Given the description of an element on the screen output the (x, y) to click on. 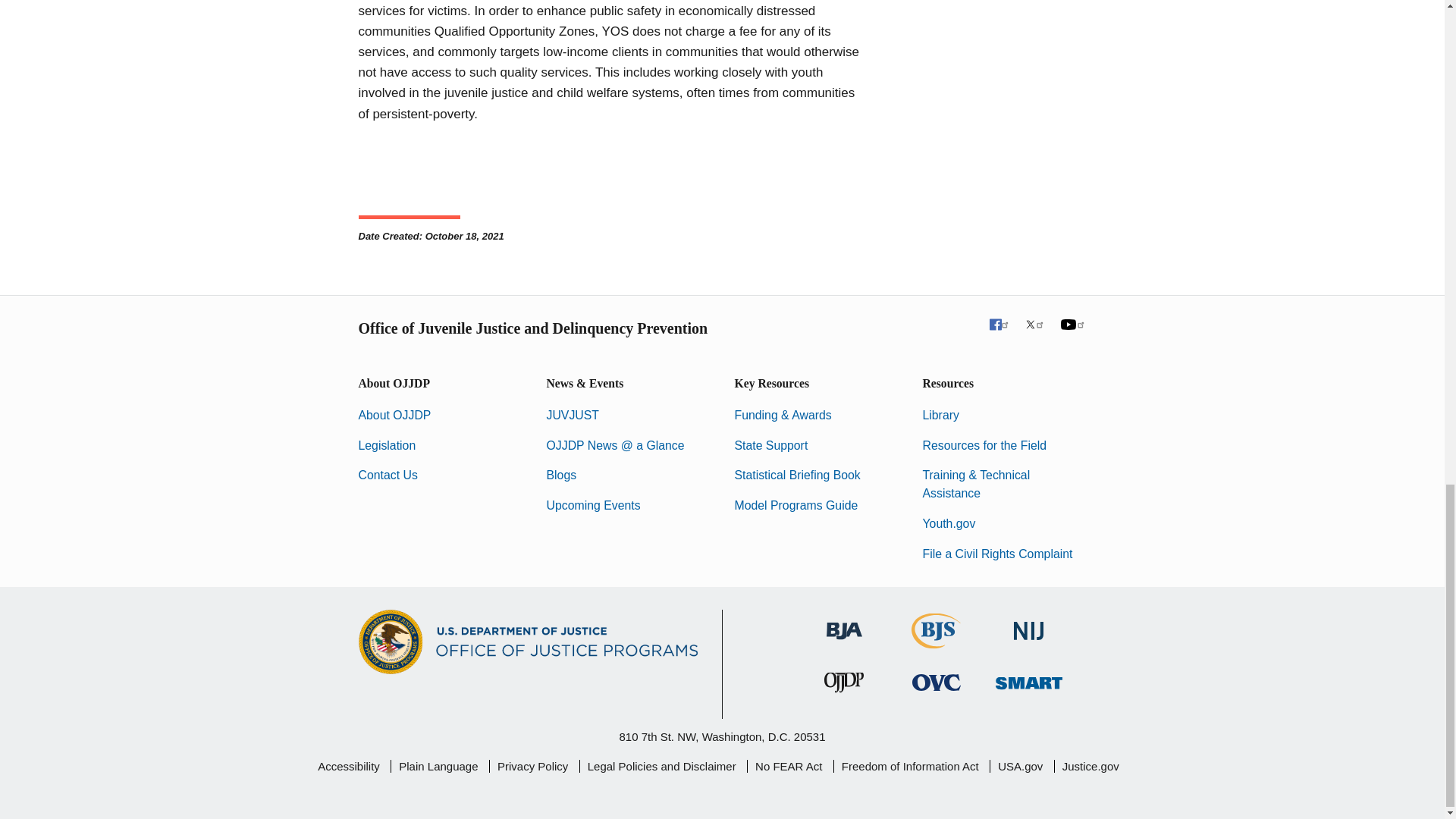
Contact Us (387, 474)
Legislation (386, 445)
About OJJDP (394, 414)
JUVJUST (572, 414)
